Given the description of an element on the screen output the (x, y) to click on. 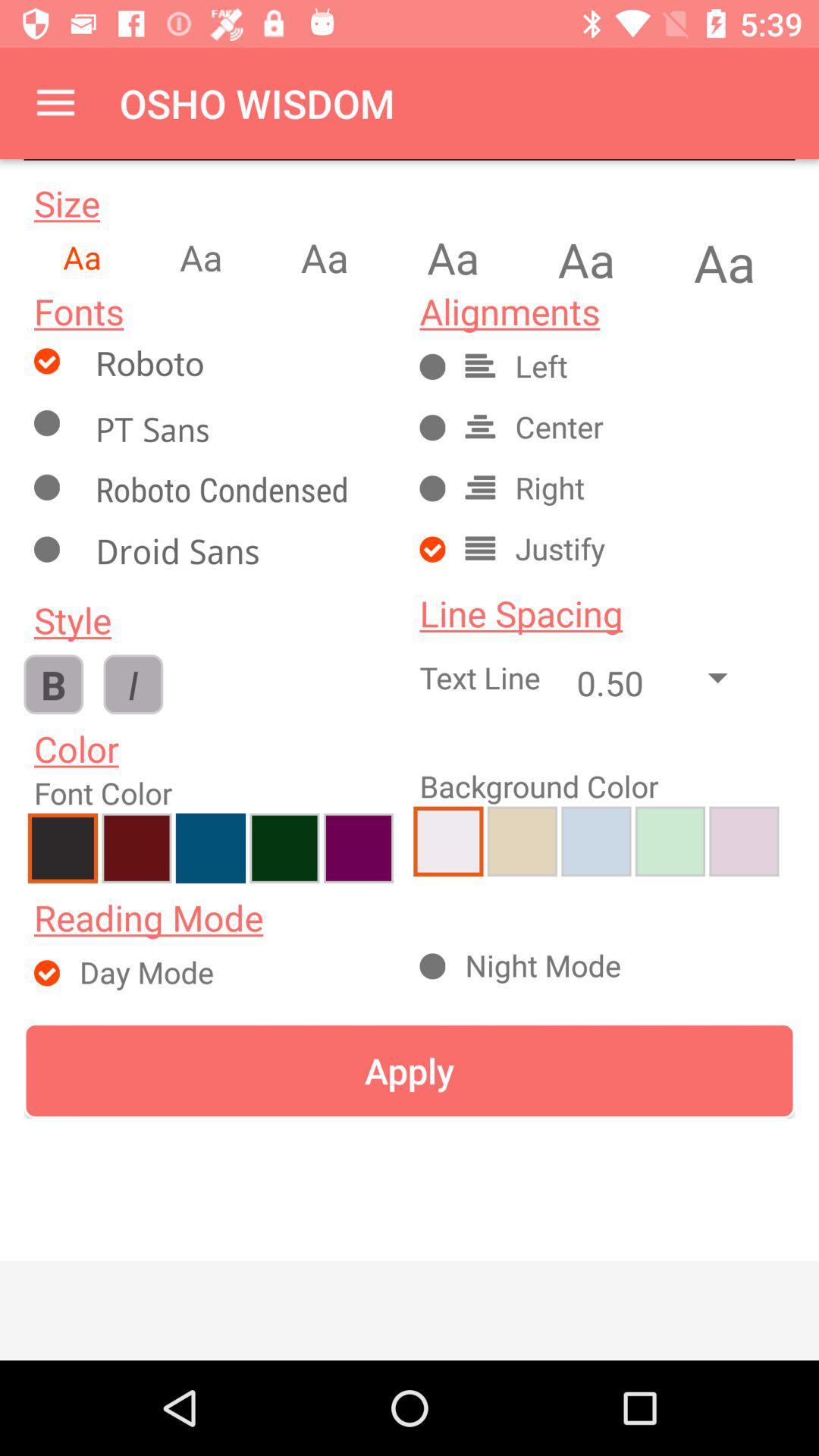
click the icon to the left of the text line item (133, 684)
